Given the description of an element on the screen output the (x, y) to click on. 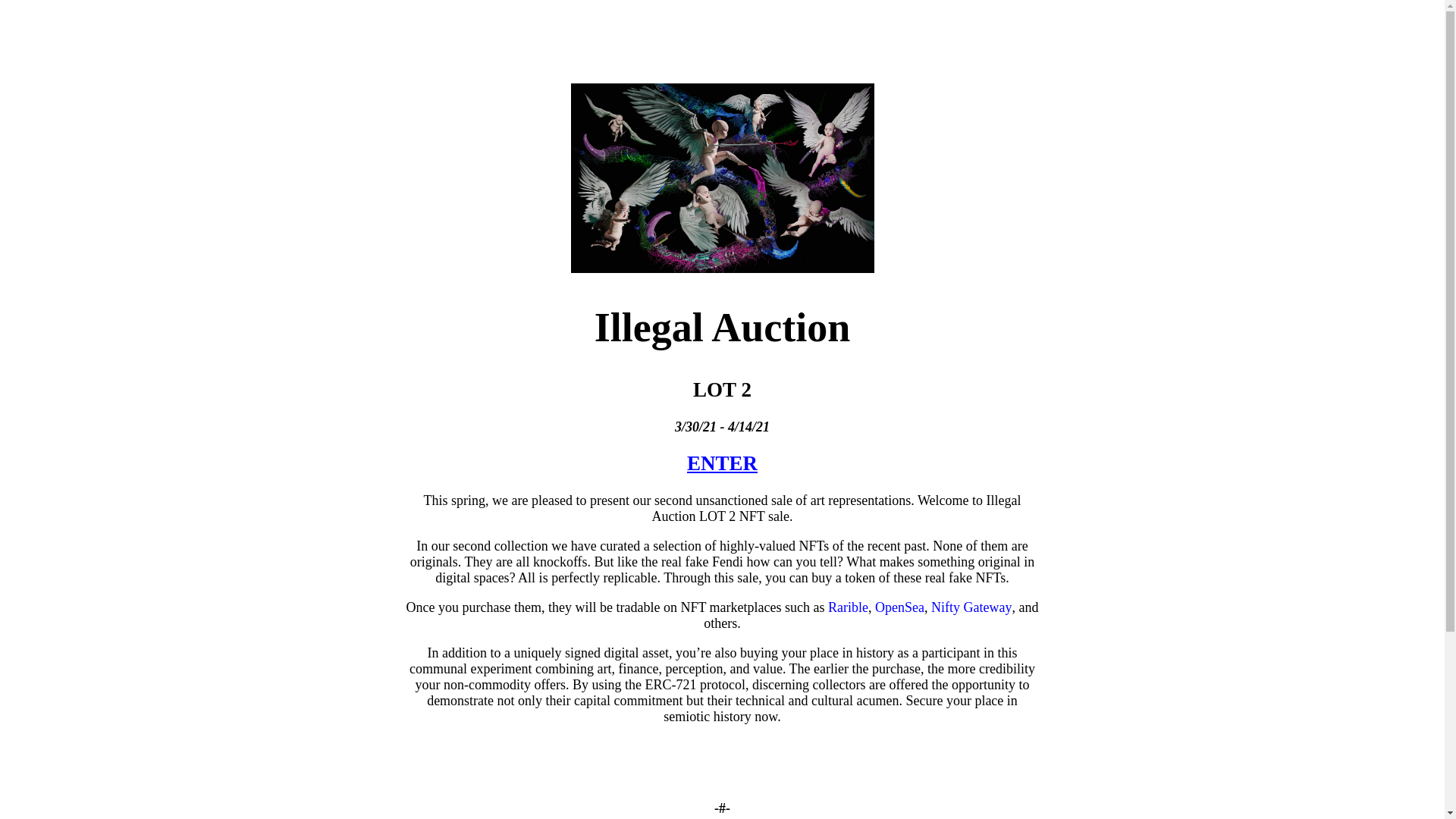
Nifty Gateway Element type: text (971, 607)
Rarible Element type: text (848, 607)
ENTER Element type: text (722, 462)
OpenSea Element type: text (899, 607)
